Given the description of an element on the screen output the (x, y) to click on. 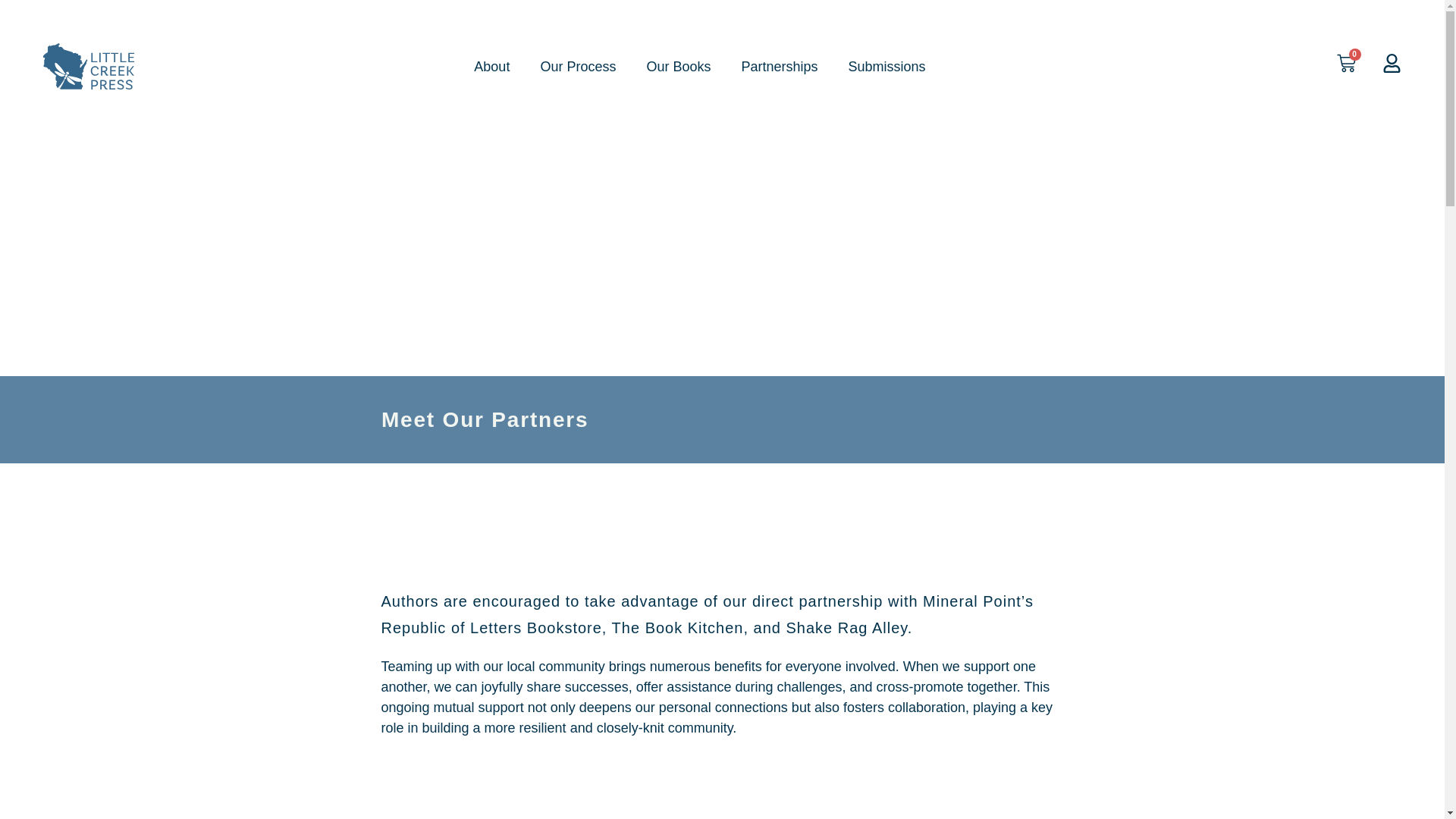
About (491, 66)
LCP-logo-blue (88, 66)
Our Books (677, 66)
Submissions (886, 66)
Our Process (577, 66)
Partnerships (778, 66)
